Given the description of an element on the screen output the (x, y) to click on. 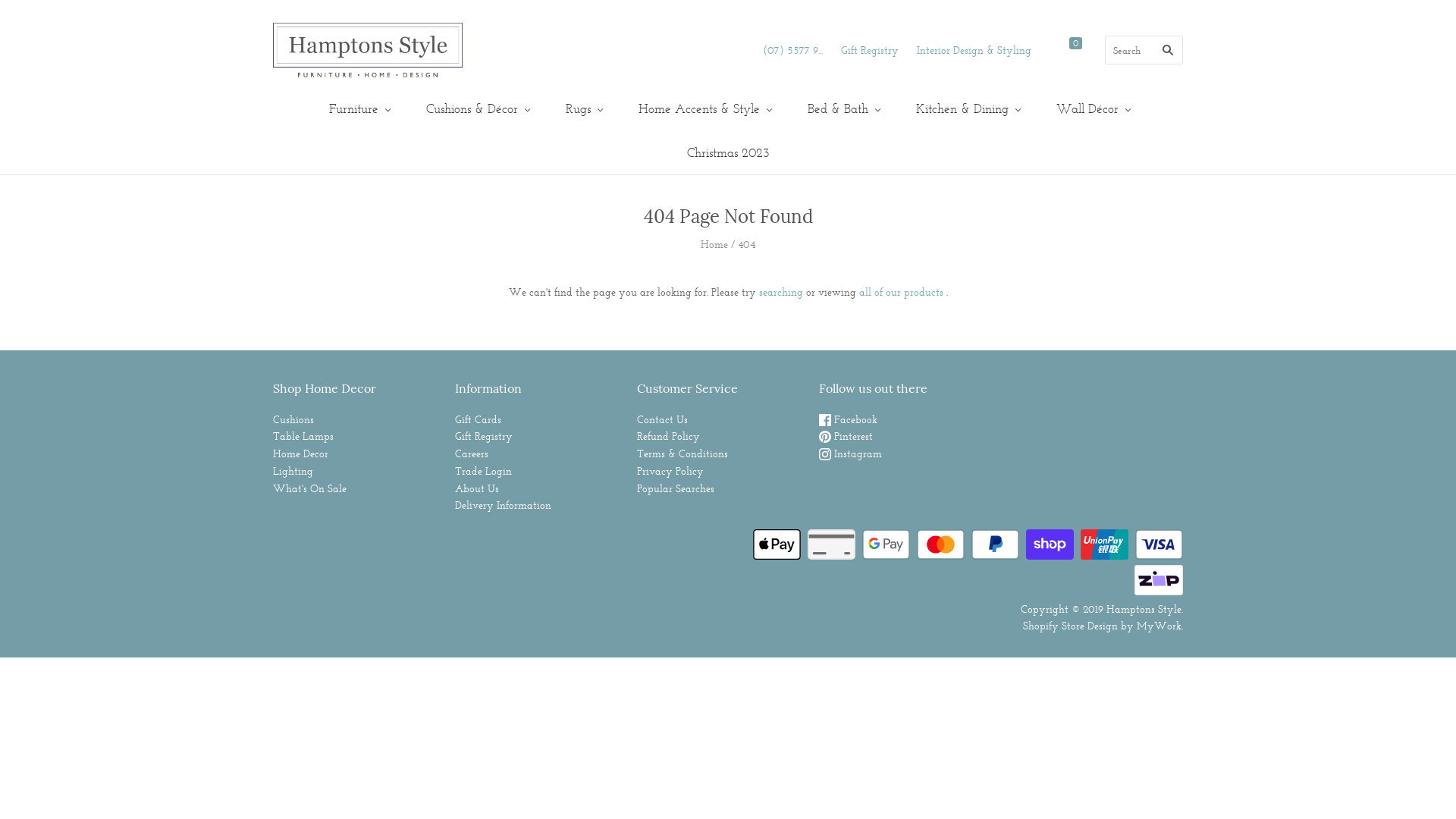
Delivery Information Element type: text (503, 504)
0 Element type: text (1079, 50)
Table Lamps Element type: text (303, 435)
Kitchen & Dining Element type: text (966, 108)
Lighting Element type: text (293, 470)
Rugs Element type: text (582, 108)
Gift Cards Element type: text (478, 419)
Trade Login Element type: text (483, 470)
Terms & Conditions Element type: text (682, 453)
Christmas 2023 Element type: text (728, 152)
(07) 5577 9... Element type: text (792, 49)
Careers Element type: text (471, 453)
MyWork Element type: text (1158, 625)
Interior Design & Styling Element type: text (973, 49)
Furniture Element type: text (357, 108)
Home Accents & Style Element type: text (702, 108)
Home Element type: text (714, 244)
What's On Sale Element type: text (309, 487)
Cushions Element type: text (293, 419)
Contact Us Element type: text (662, 419)
Gift Registry Element type: text (483, 435)
About Us Element type: text (476, 487)
Hamptons Style Element type: text (1143, 608)
all of our products Element type: text (900, 291)
Refund Policy Element type: text (668, 435)
Gift Registry Element type: text (869, 49)
searching Element type: text (780, 291)
Home Decor Element type: text (300, 453)
Privacy Policy Element type: text (670, 470)
Instagram Element type: text (850, 453)
Bed & Bath Element type: text (841, 108)
Facebook Element type: text (848, 419)
Popular Searches Element type: text (675, 487)
Submit Element type: text (727, 273)
Pinterest Element type: text (845, 435)
